Given the description of an element on the screen output the (x, y) to click on. 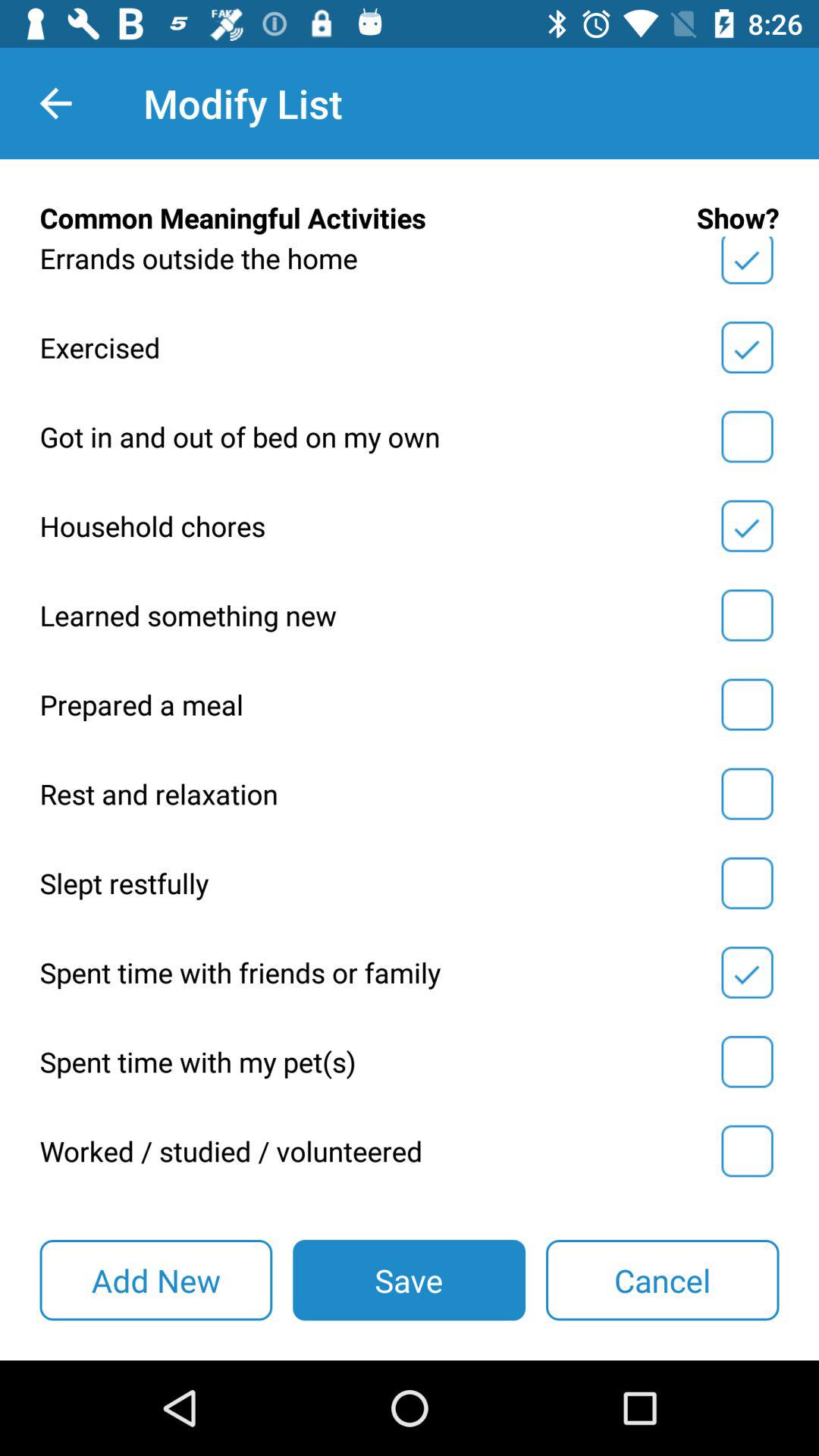
toggle slept restfully (747, 883)
